Given the description of an element on the screen output the (x, y) to click on. 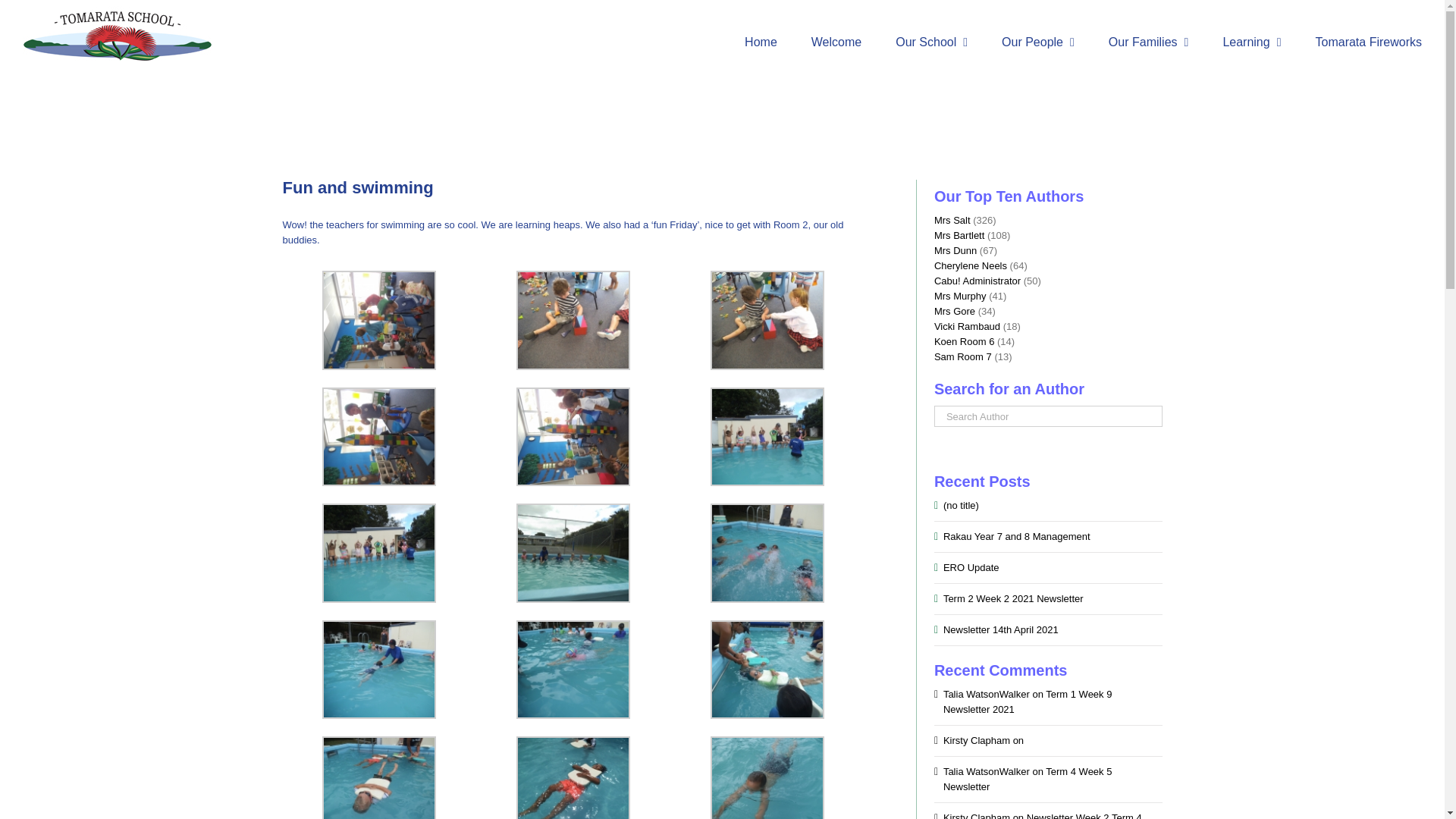
Tomarata Fireworks (1369, 41)
Our Families (1148, 41)
